Given the description of an element on the screen output the (x, y) to click on. 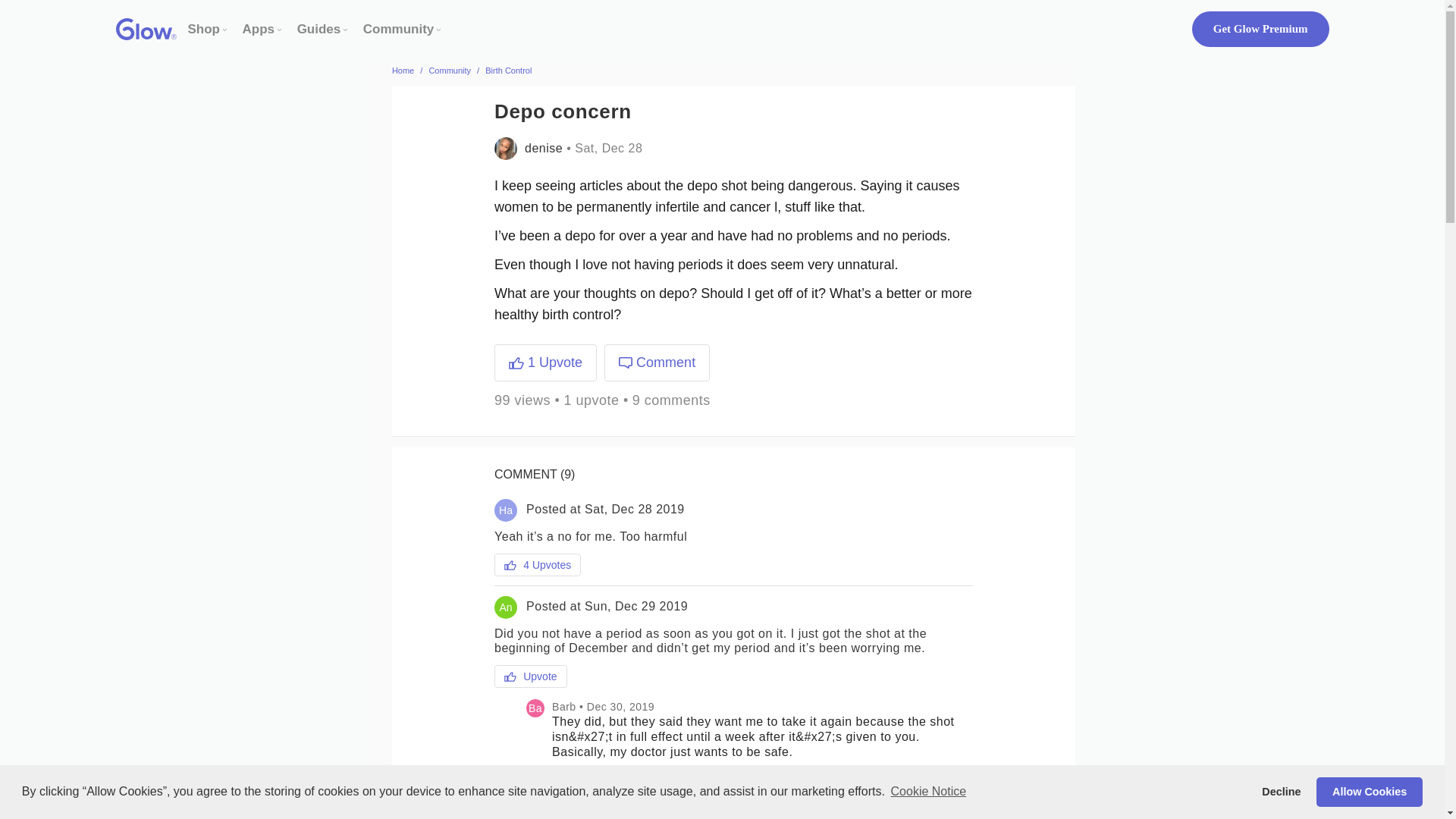
Glow Shop (204, 28)
Apps (259, 28)
Guides (318, 28)
Allow Cookies (1369, 791)
Shop (204, 28)
Decline (1281, 791)
Glow Community (397, 28)
Cookie Notice (928, 791)
